Given the description of an element on the screen output the (x, y) to click on. 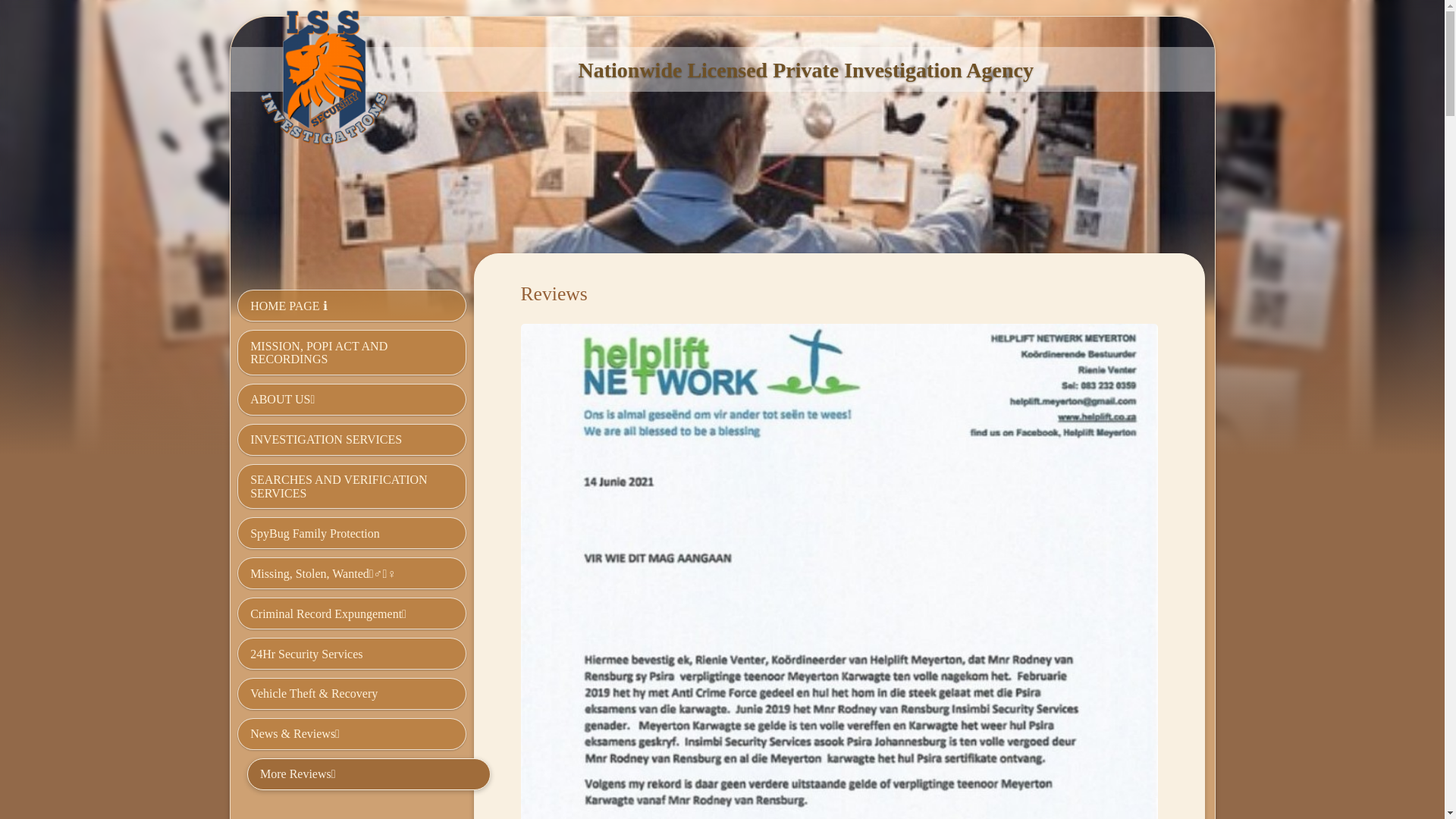
SpyBug Family Protection (351, 532)
SEARCHES AND VERIFICATION SERVICES (351, 486)
MISSION, POPI ACT AND RECORDINGS (351, 352)
INVESTIGATION SERVICES (351, 439)
24Hr Security Services (351, 653)
